Given the description of an element on the screen output the (x, y) to click on. 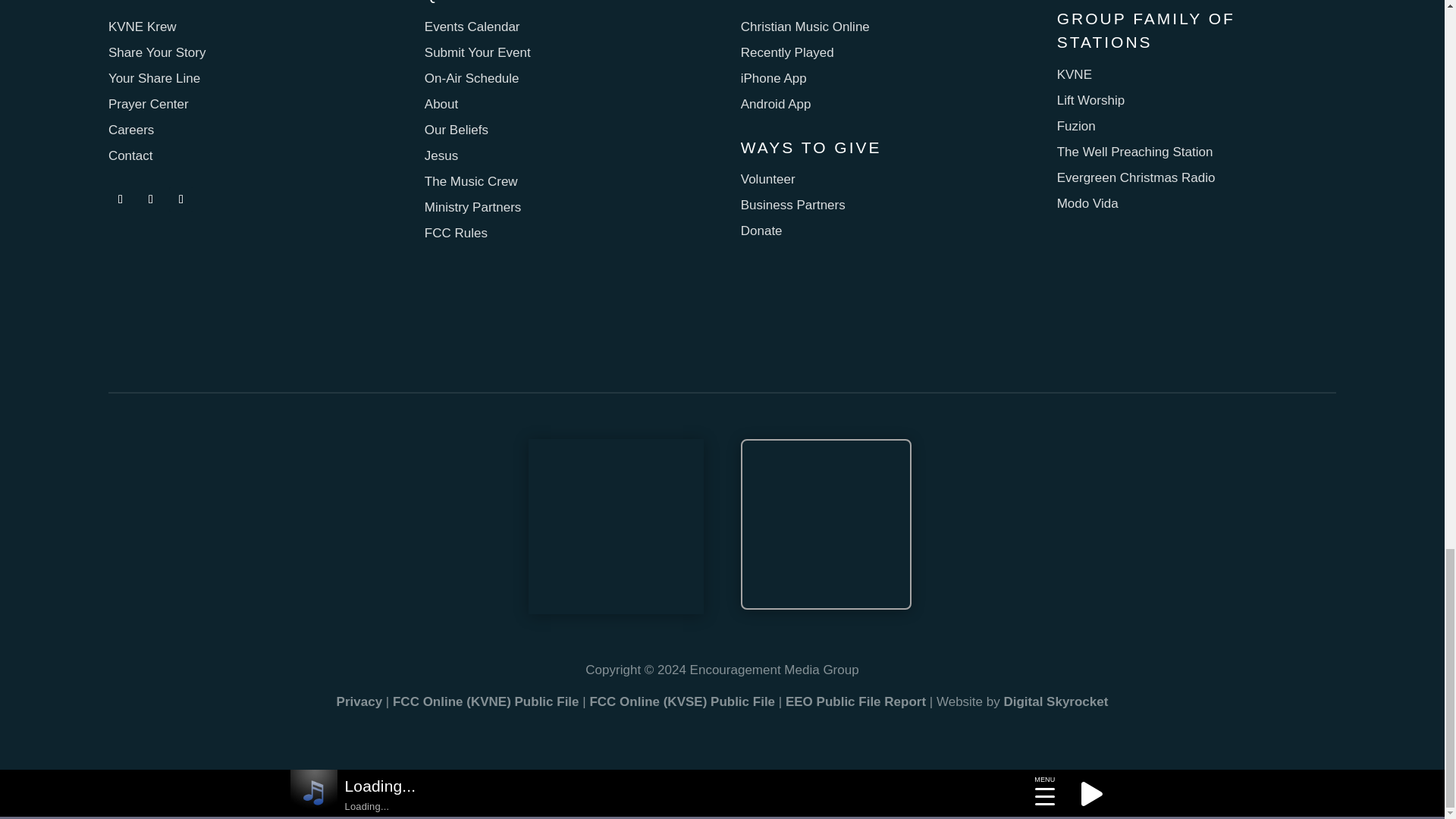
Follow on Instagram (150, 199)
Follow on Facebook (119, 199)
Follow on Vimeo (180, 199)
